Given the description of an element on the screen output the (x, y) to click on. 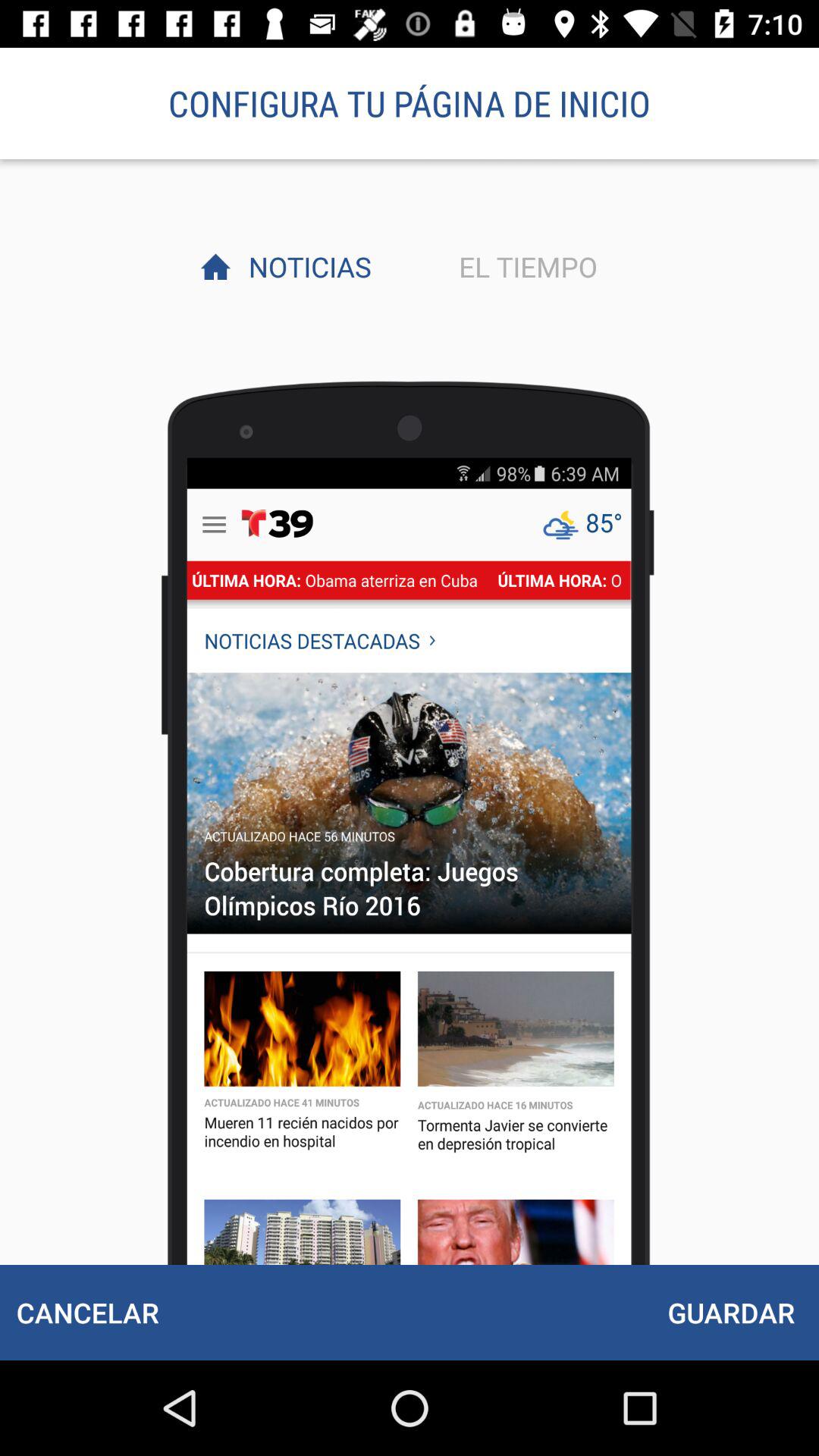
choose the noticias (305, 266)
